Given the description of an element on the screen output the (x, y) to click on. 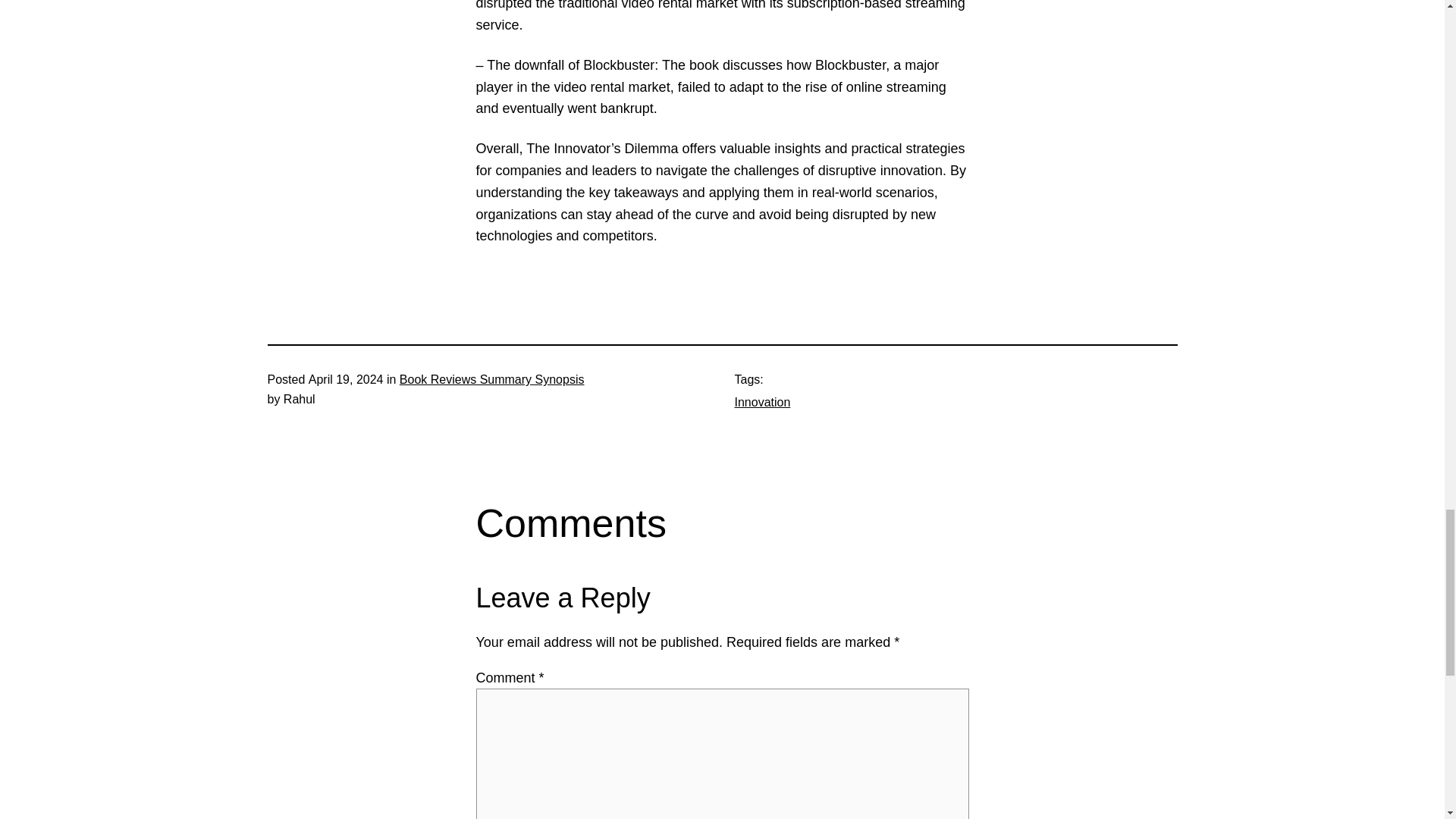
Book Reviews Summary Synopsis (491, 379)
Innovation (761, 401)
